Given the description of an element on the screen output the (x, y) to click on. 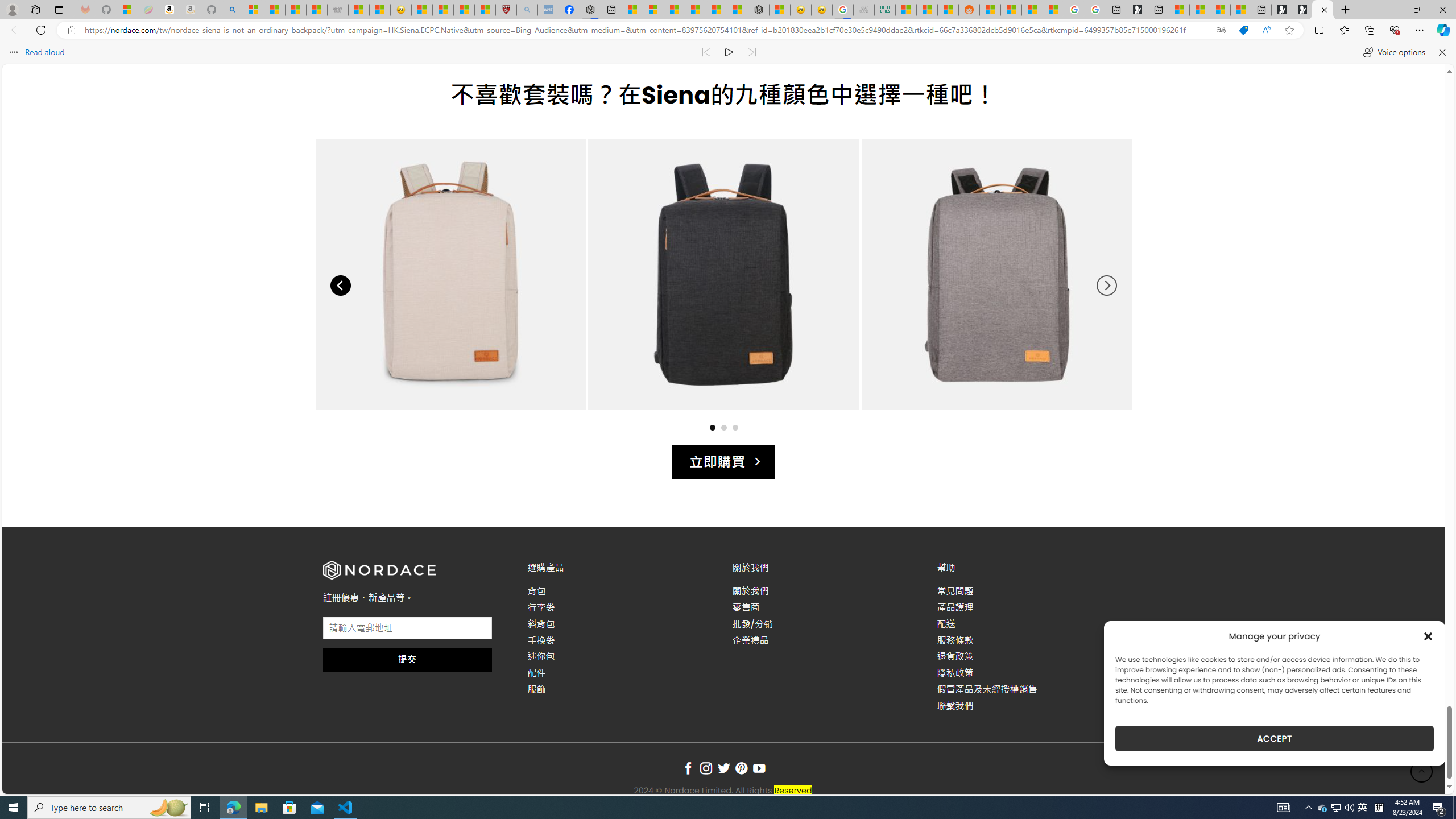
Robert H. Shmerling, MD - Harvard Health (505, 9)
Follow on Instagram (705, 768)
Voice options (1393, 52)
Follow on Facebook (687, 768)
14 Common Myths Debunked By Scientific Facts (716, 9)
